Given the description of an element on the screen output the (x, y) to click on. 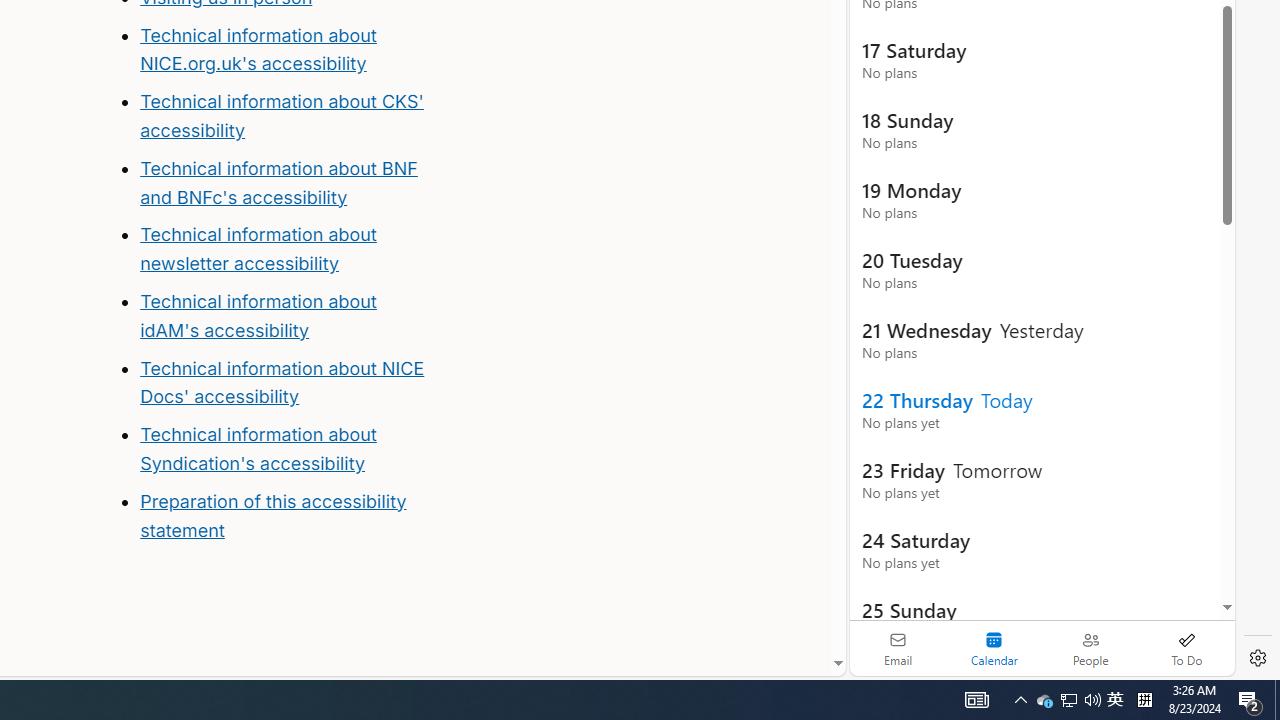
Selected calendar module. Date today is 22 (994, 648)
Technical information about BNF and BNFc's accessibility (278, 182)
Technical information about Syndication's accessibility (258, 448)
Technical information about NICE.org.uk's accessibility (258, 48)
Technical information about CKS' accessibility (281, 115)
Preparation of this accessibility statement (273, 515)
To Do (1186, 648)
Technical information about newsletter accessibility (258, 249)
Technical information about NICE Docs' accessibility (281, 382)
People (1090, 648)
